Given the description of an element on the screen output the (x, y) to click on. 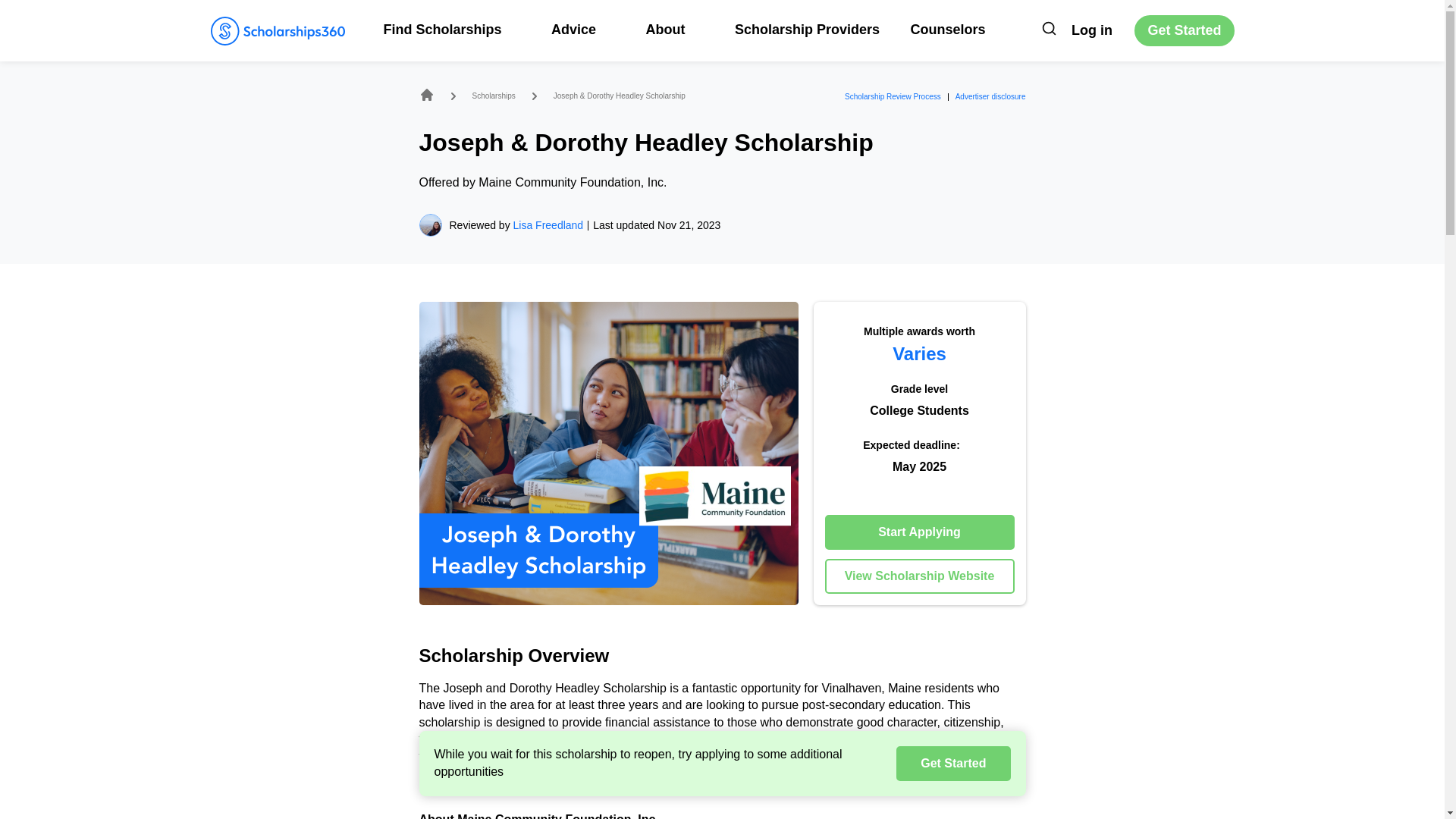
About (674, 29)
Get Started (1183, 30)
Advice (582, 29)
Find Scholarships (452, 29)
Counselors (947, 29)
Log in (1091, 30)
Scholarship Providers (807, 29)
